Given the description of an element on the screen output the (x, y) to click on. 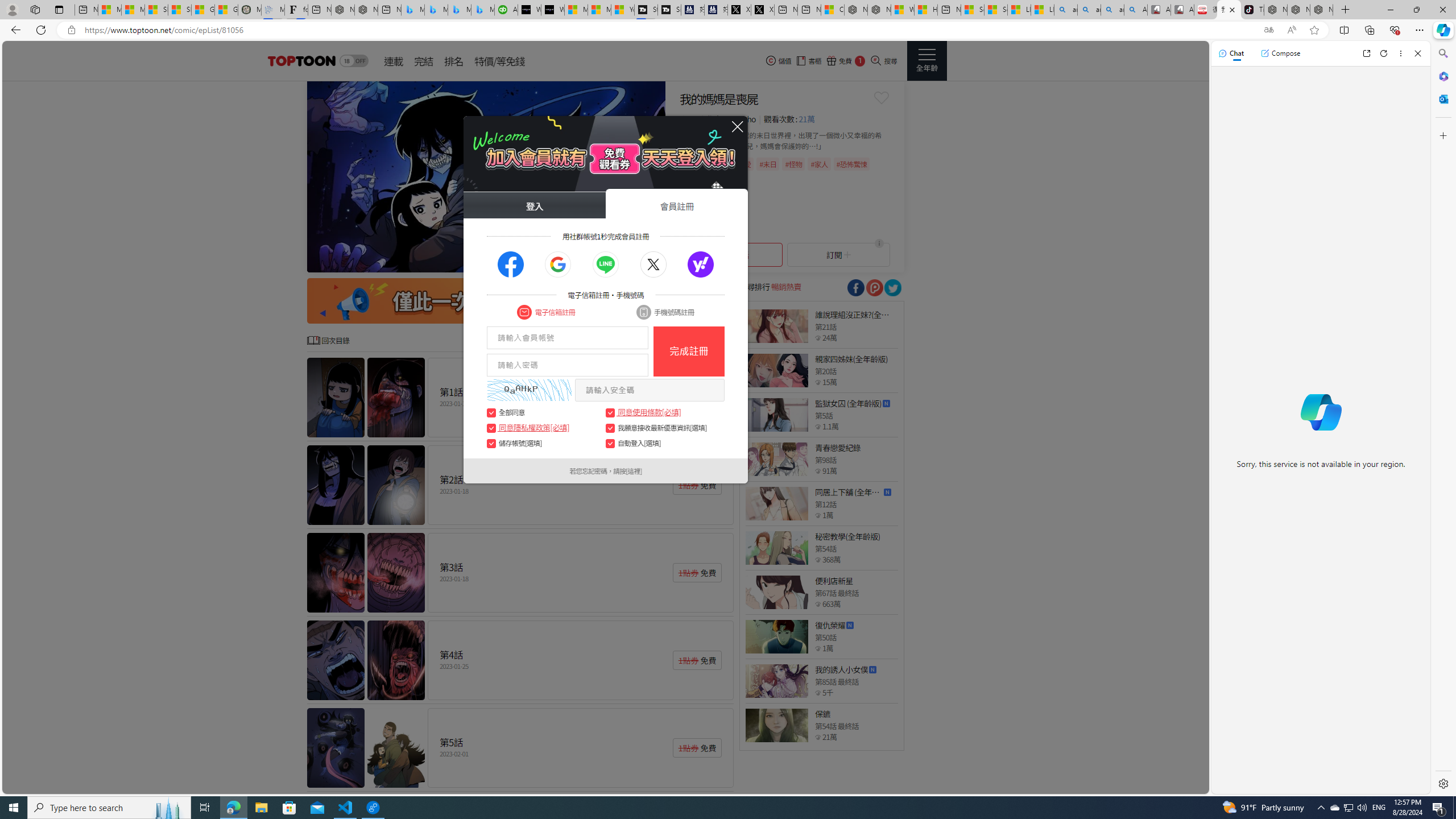
Show translate options (1268, 29)
Go to slide 5 (606, 261)
Class: swiper-slide swiper-slide-duplicate swiper-slide-next (486, 176)
